Given the description of an element on the screen output the (x, y) to click on. 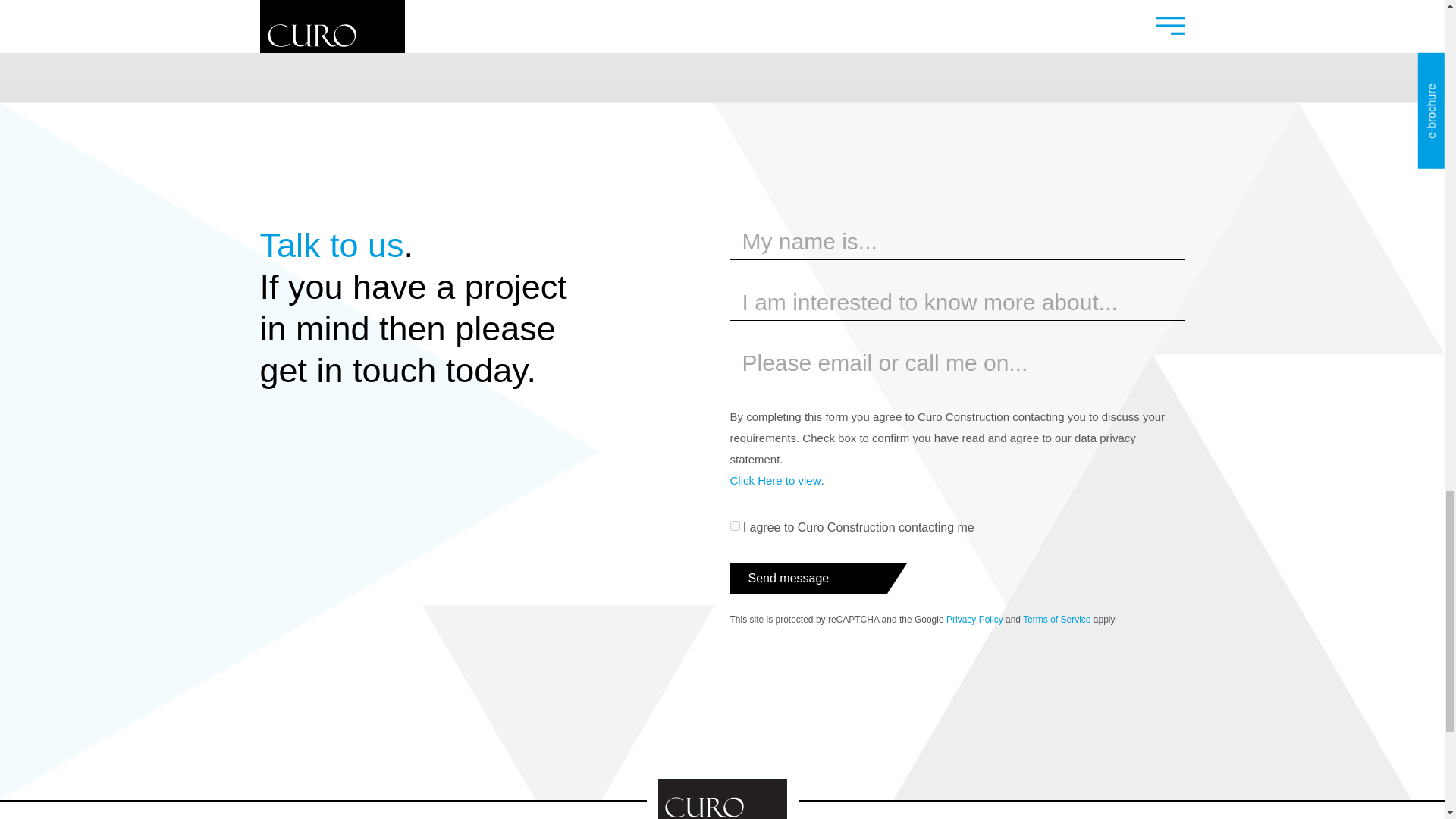
Click Here to view (775, 480)
Previous project (490, 9)
Send message (807, 578)
on (734, 525)
Terms of Service (1056, 619)
Next project (953, 9)
Privacy Policy (974, 619)
